Given the description of an element on the screen output the (x, y) to click on. 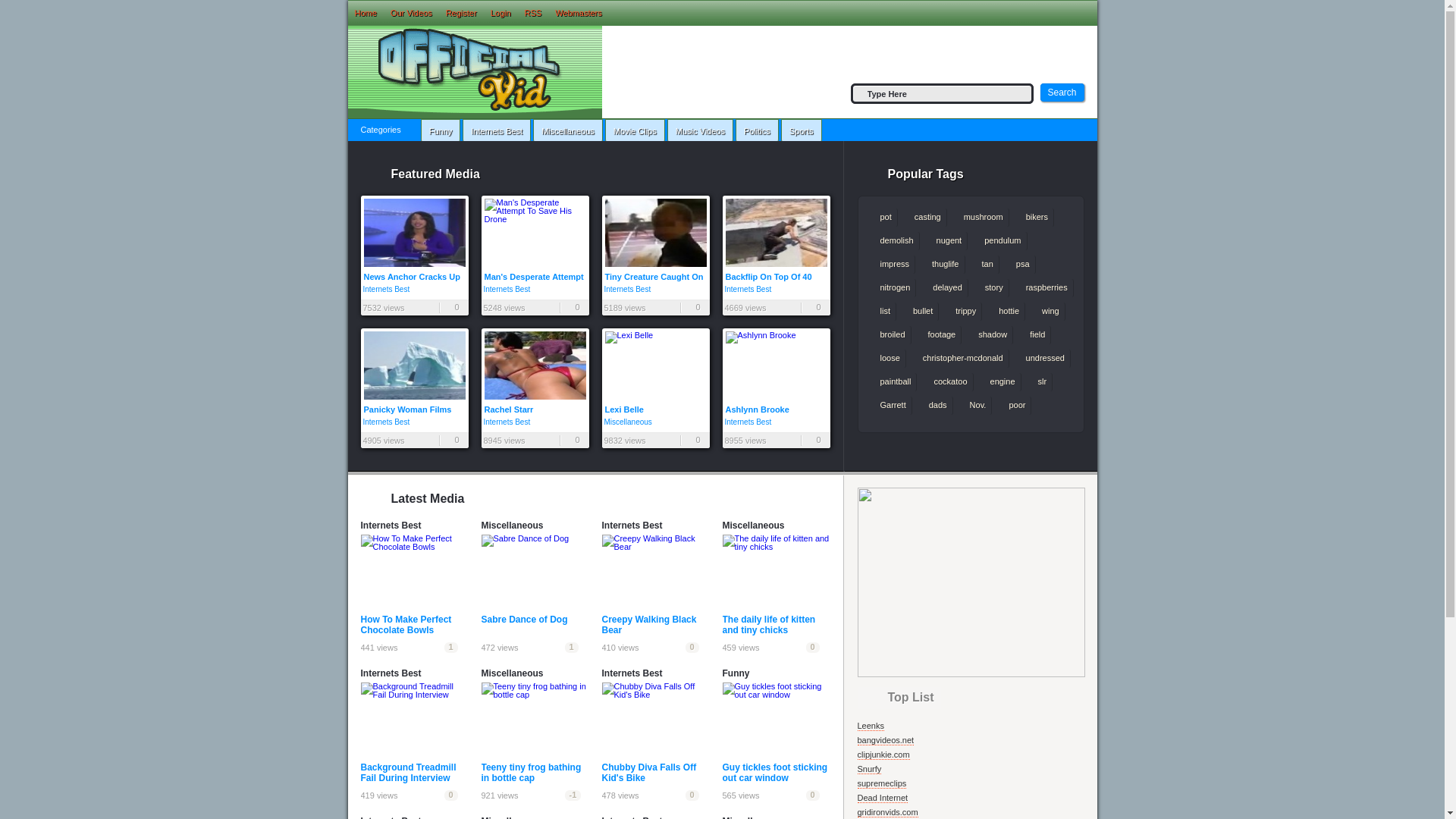
see all posts tagged nugent (946, 240)
Internets Best (507, 289)
Funny (440, 131)
Webmasters (578, 12)
Politics (756, 131)
News Anchor Cracks Up Over Comment About Balls (414, 238)
RSS (533, 12)
Login (500, 12)
see all posts tagged pot (881, 217)
see all posts tagged tan (983, 264)
Panicky Woman Films Collapse of An Iceberg (414, 371)
Register (461, 12)
Movie Clips (635, 131)
Backflip On Top Of 40 Story Building (775, 238)
see all posts tagged demolish (892, 240)
